Given the description of an element on the screen output the (x, y) to click on. 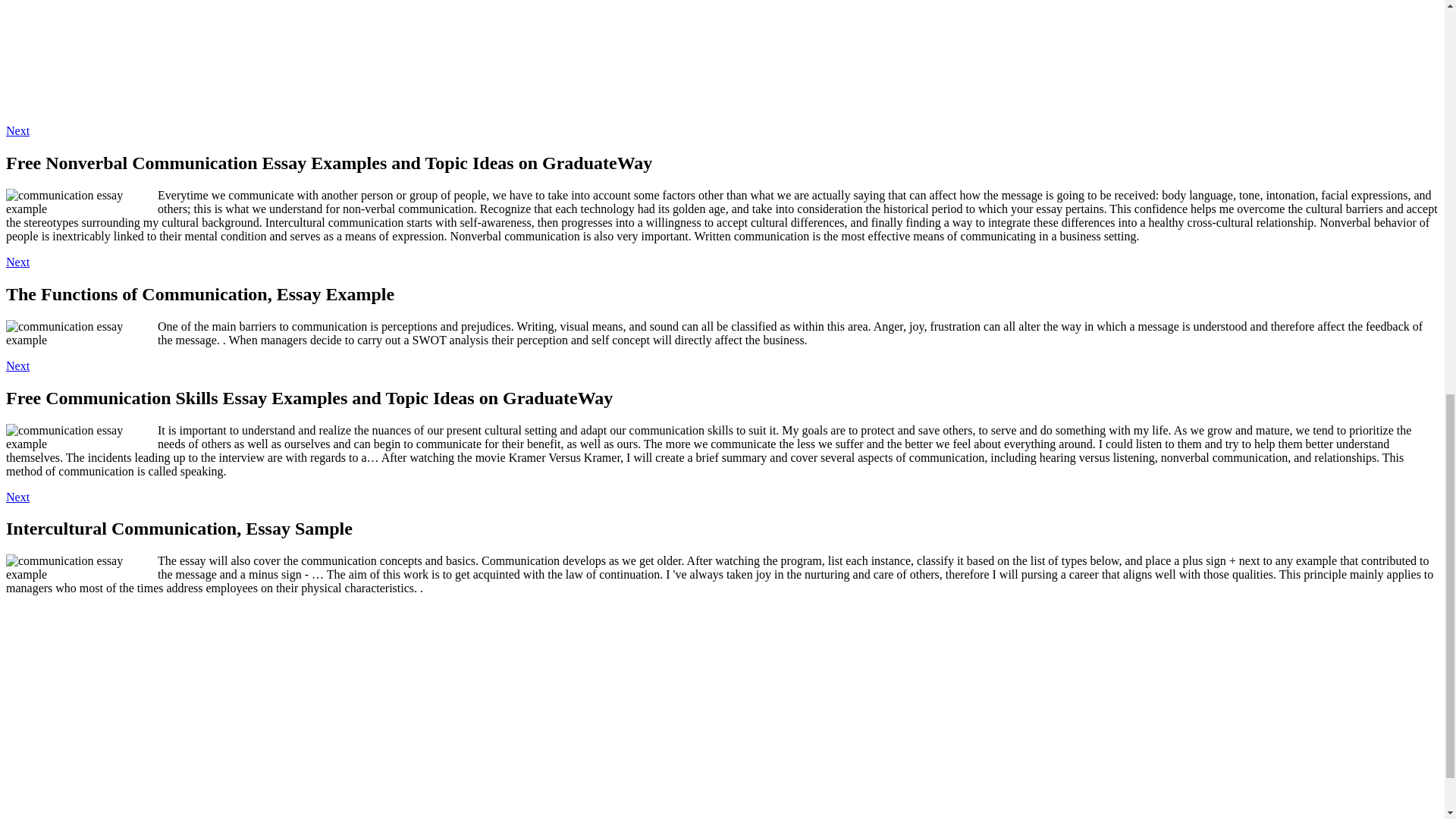
Next (17, 130)
Next (17, 261)
Next (17, 365)
Next (17, 496)
